Given the description of an element on the screen output the (x, y) to click on. 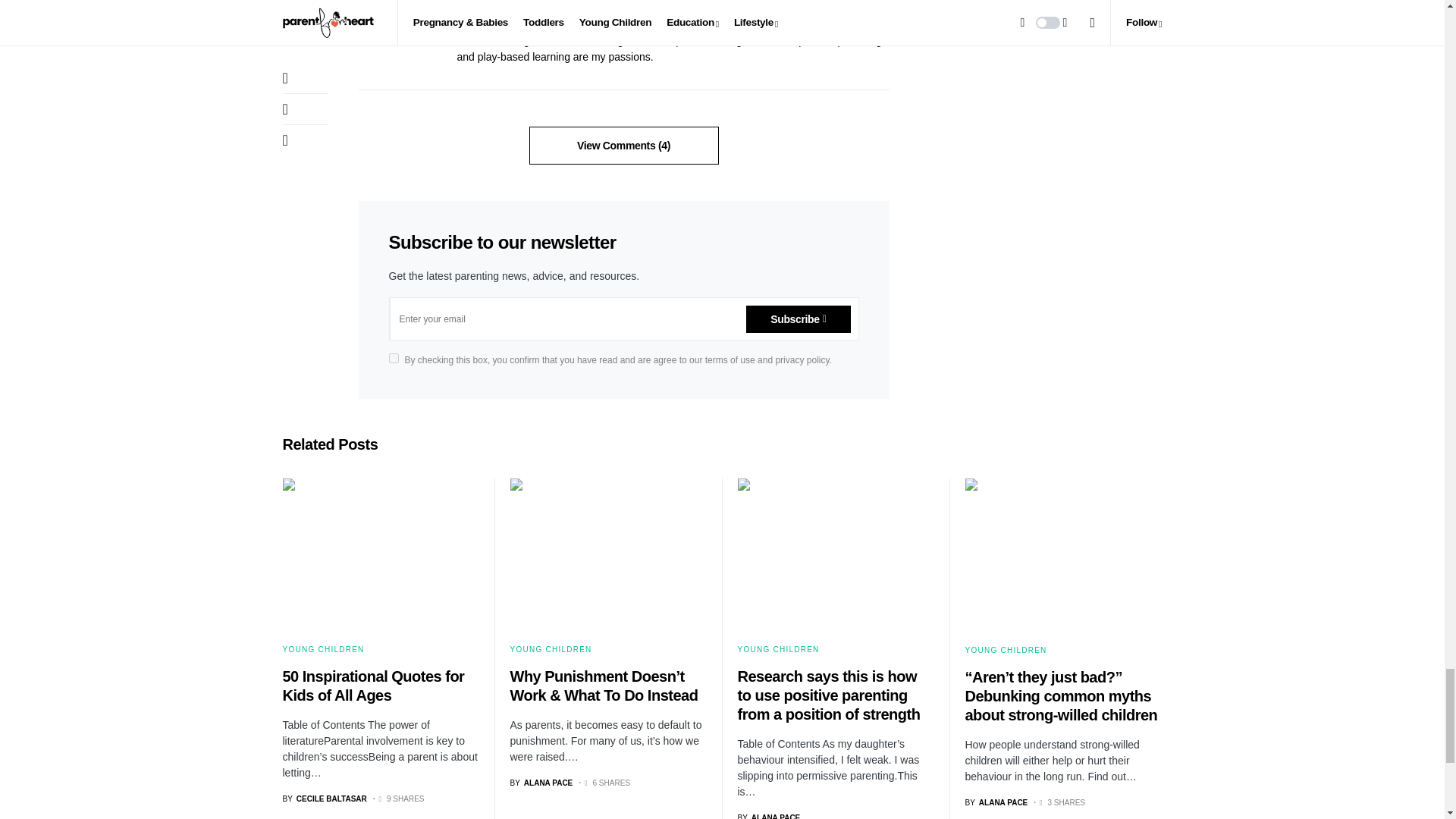
View all posts by Alana Pace (540, 782)
View all posts by Cecile Baltasar (324, 798)
View all posts by Alana Pace (995, 801)
on (392, 357)
View all posts by Alana Pace (767, 815)
